Given the description of an element on the screen output the (x, y) to click on. 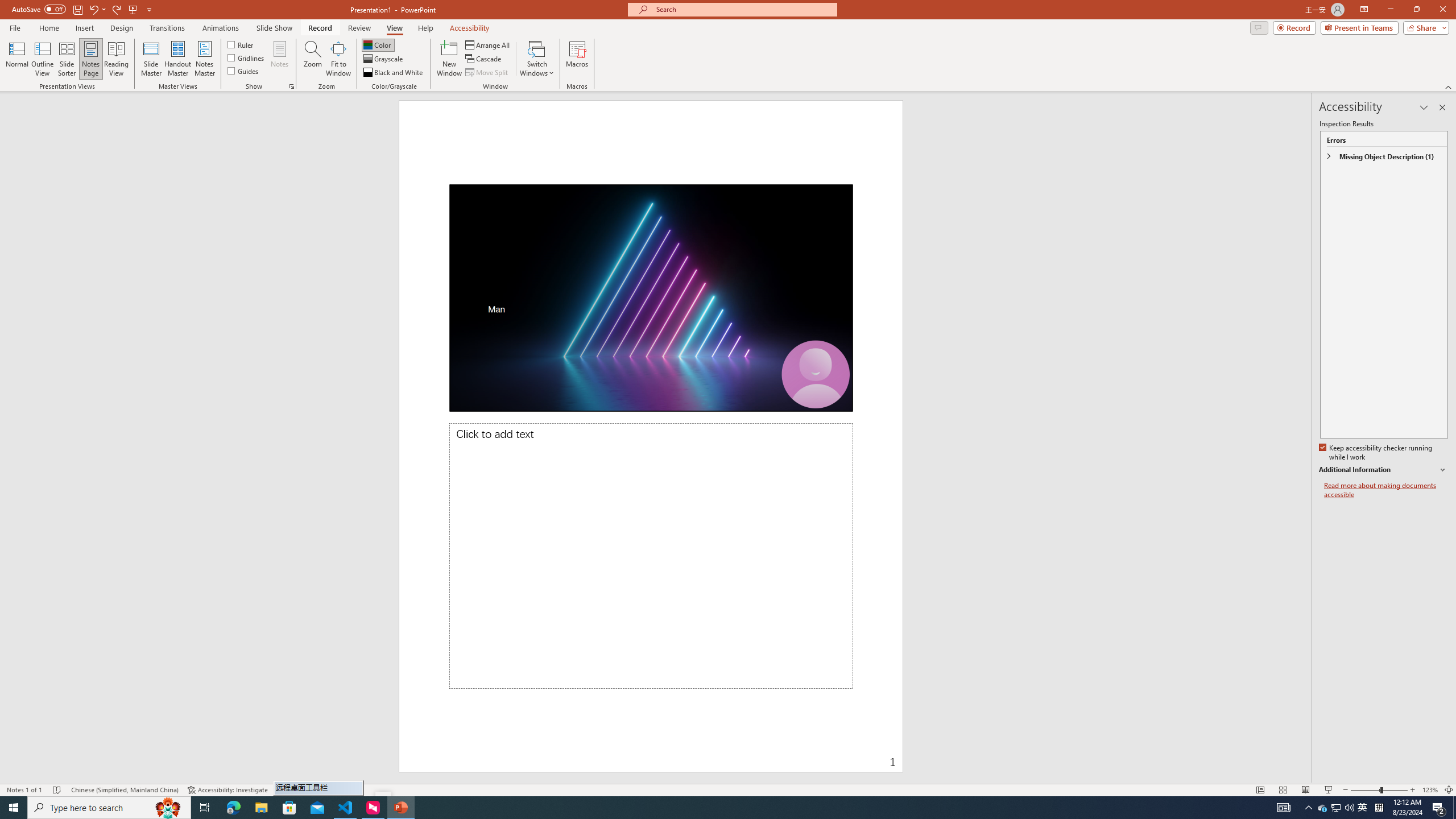
Notes (279, 58)
Color (377, 44)
Switch Windows (537, 58)
Slide Master (151, 58)
